Given the description of an element on the screen output the (x, y) to click on. 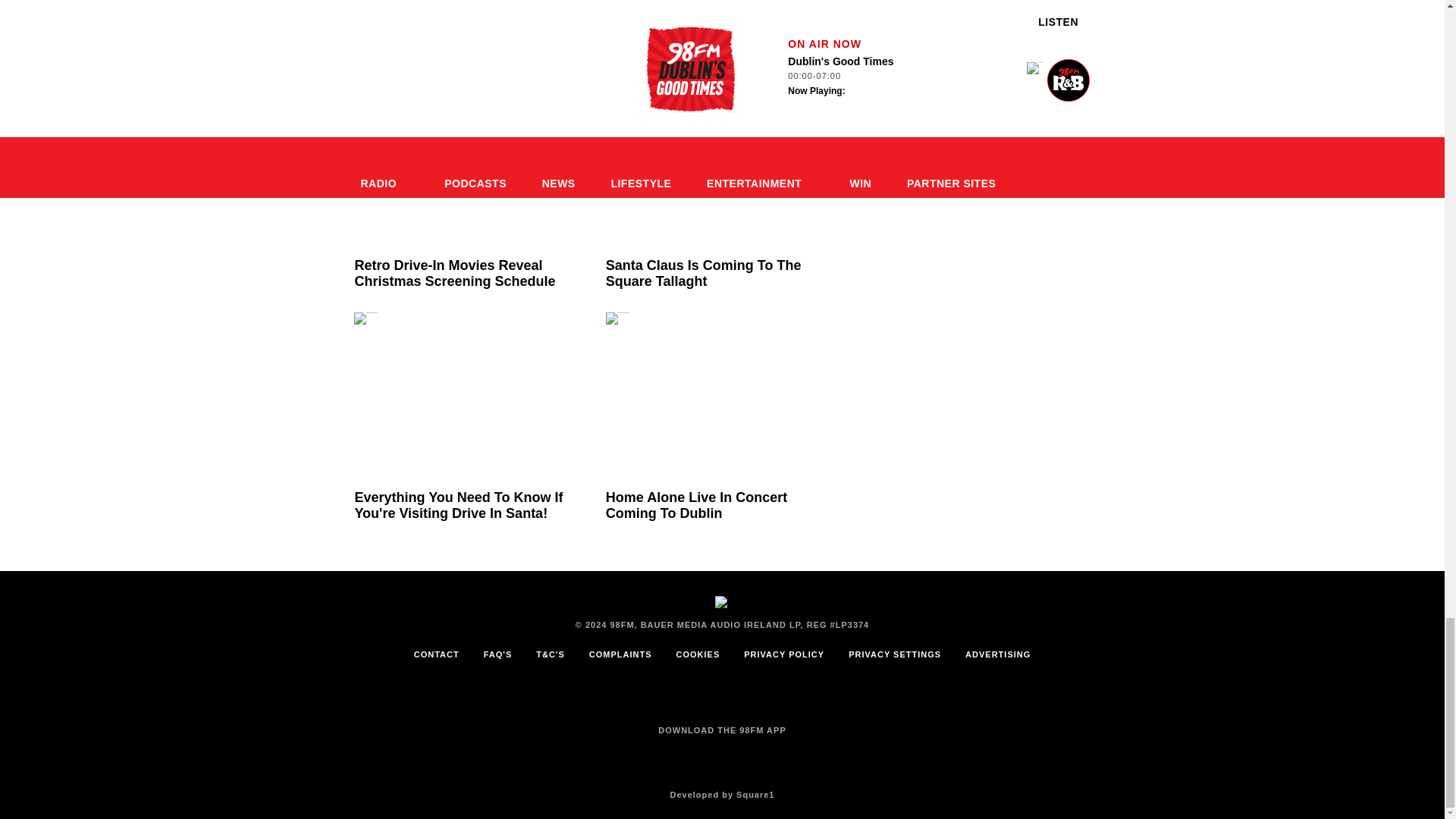
Contact (436, 654)
FAQ's (497, 654)
